Given the description of an element on the screen output the (x, y) to click on. 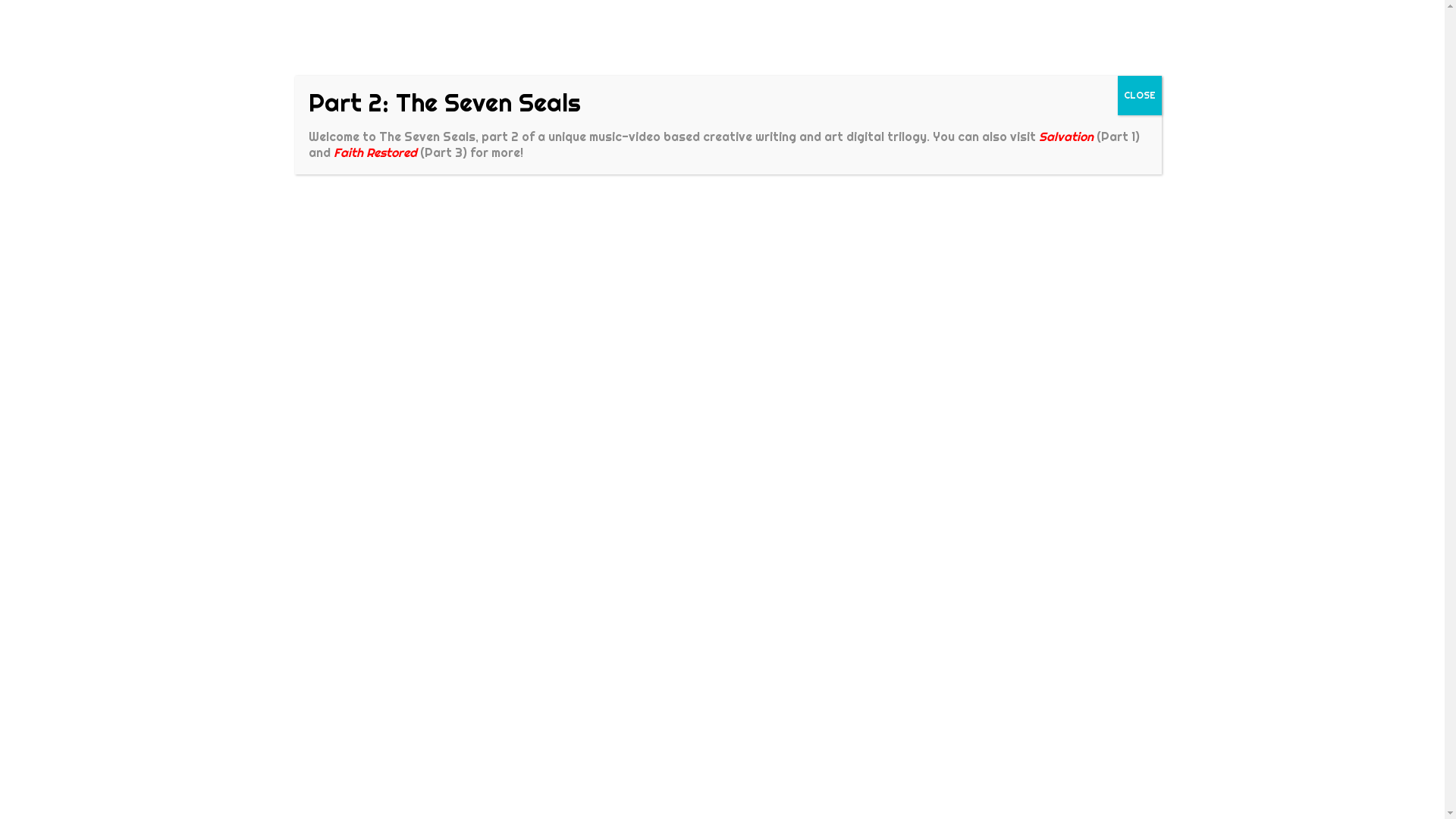
News and Investor Guidance Element type: text (863, 14)
Faith Restored Element type: text (406, 131)
Faith Restored Element type: text (375, 152)
Salvation Element type: text (1065, 136)
Royal Court Element type: text (1055, 131)
About Double Foot (Est. 2005) Element type: text (1012, 14)
CLOSE Element type: text (1139, 95)
Salvation Element type: text (495, 131)
Gates of Heaven Element type: text (958, 131)
Contact Element type: text (1117, 14)
